Given the description of an element on the screen output the (x, y) to click on. 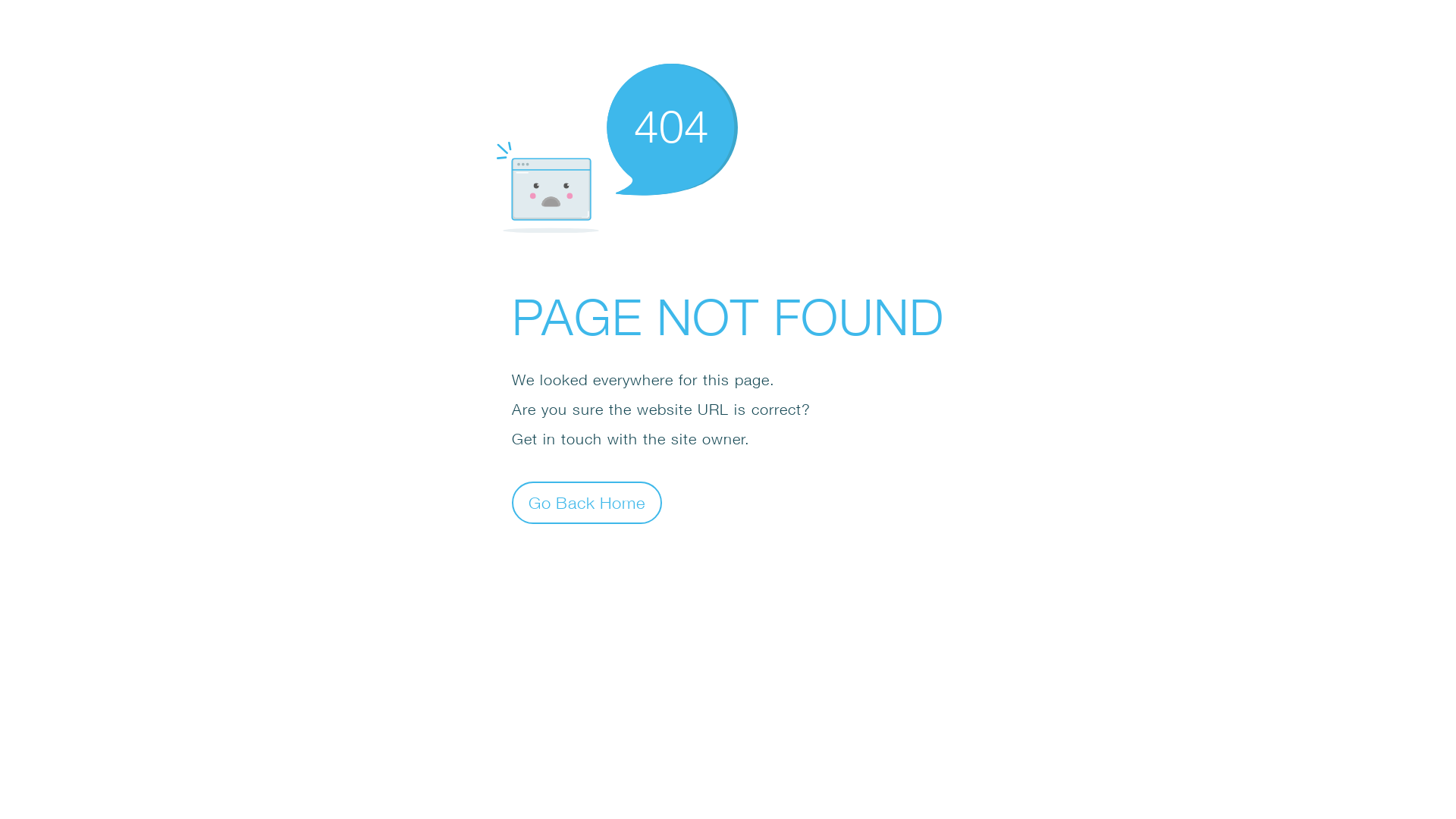
Go Back Home Element type: text (586, 502)
